Given the description of an element on the screen output the (x, y) to click on. 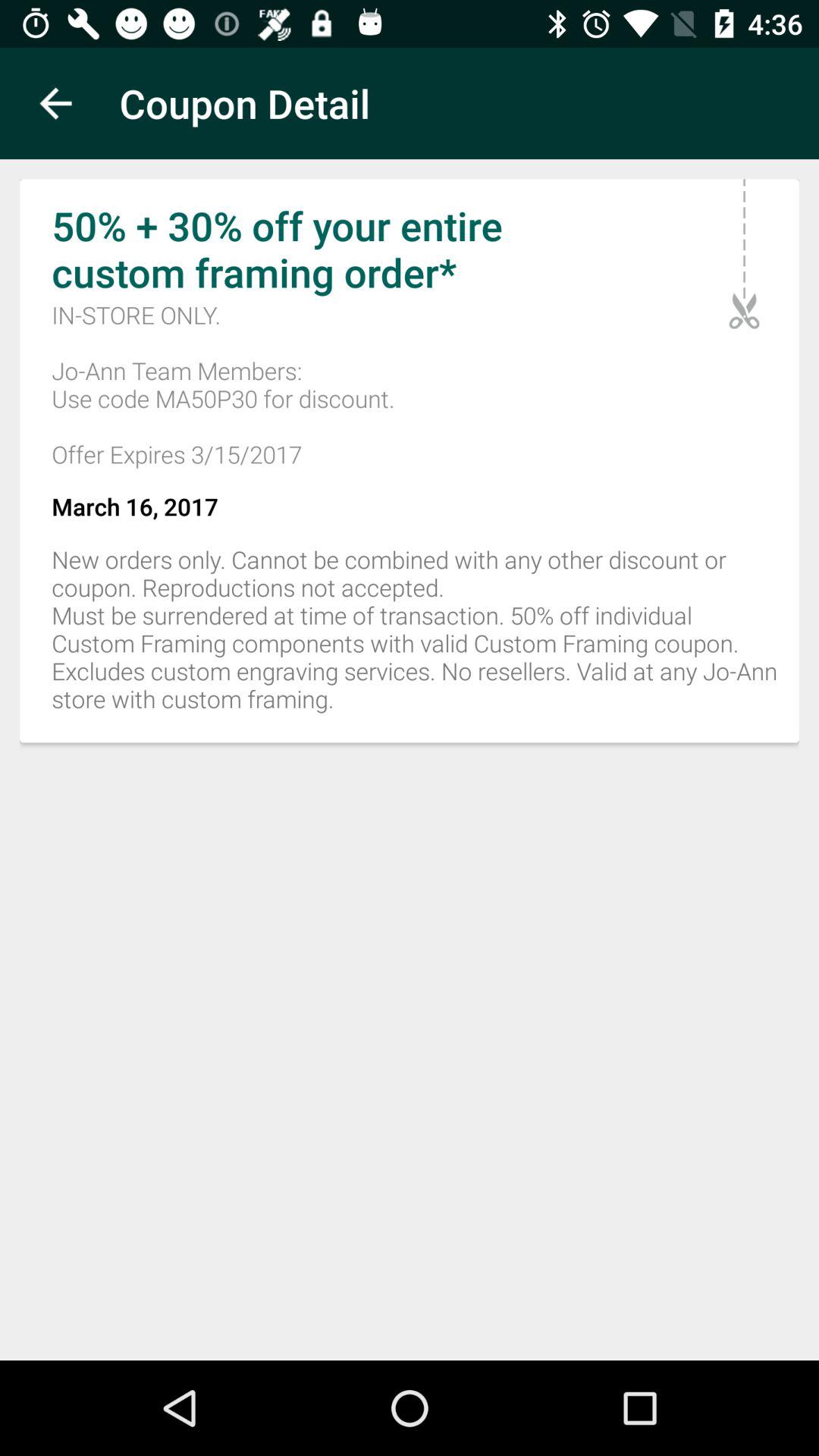
select app next to the coupon detail app (55, 103)
